Given the description of an element on the screen output the (x, y) to click on. 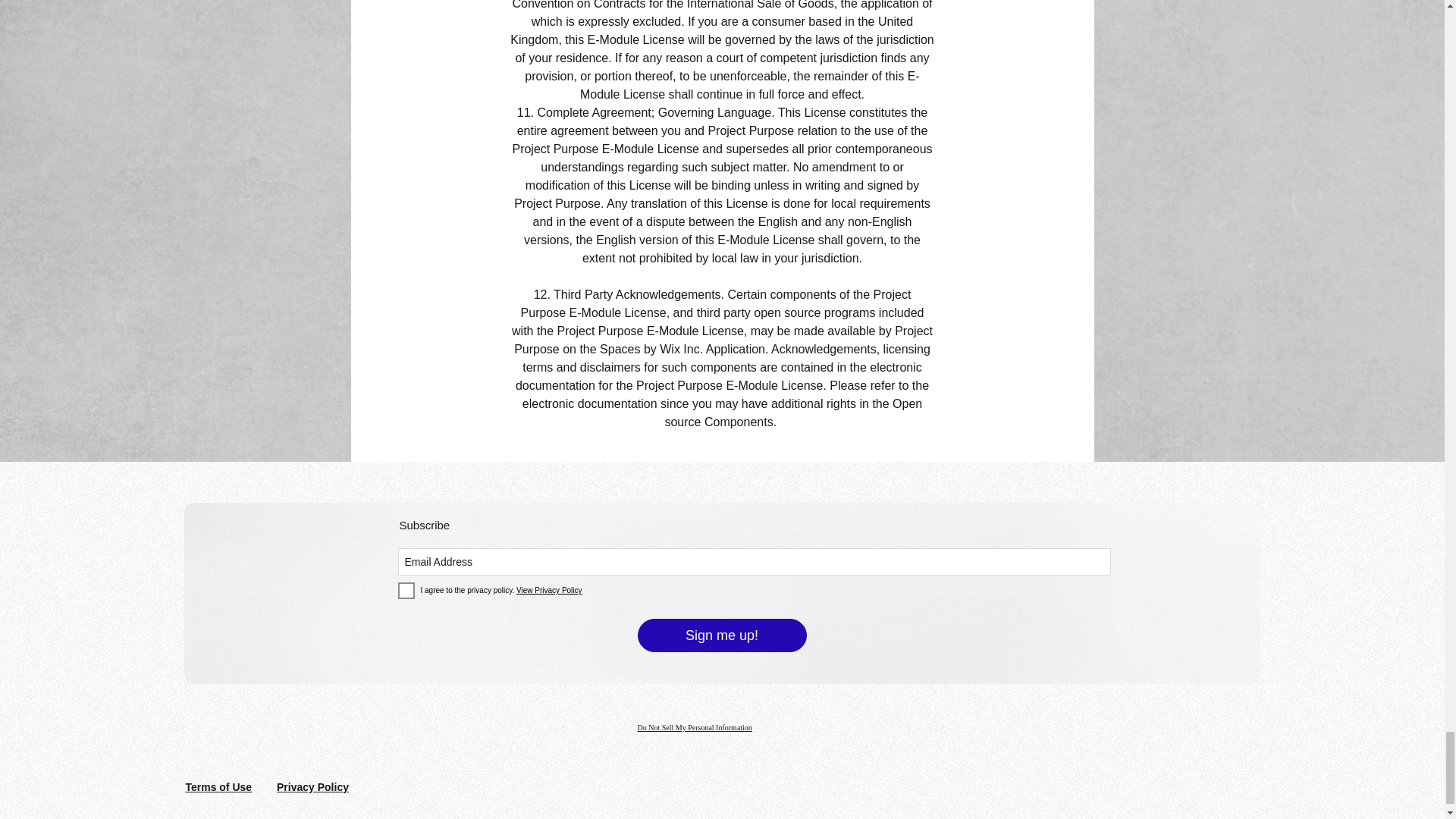
View Privacy Policy (549, 590)
Terms of Use (217, 787)
Do Not Sell My Personal Information (694, 727)
Sign me up! (721, 635)
